Given the description of an element on the screen output the (x, y) to click on. 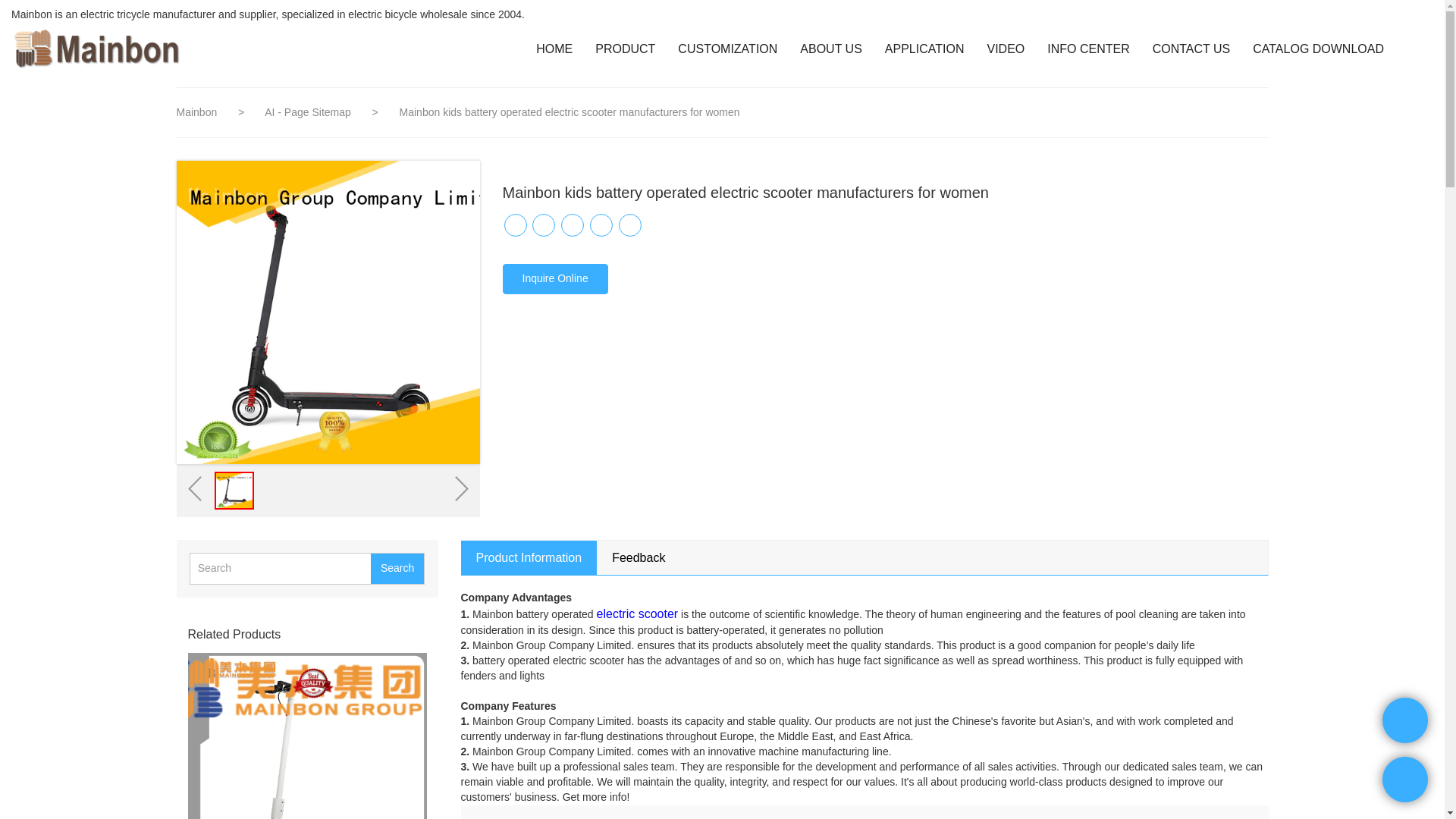
PRODUCT (625, 49)
ABOUT US (830, 49)
INFO CENTER (1087, 49)
CUSTOMIZATION (727, 49)
APPLICATION (924, 49)
